Given the description of an element on the screen output the (x, y) to click on. 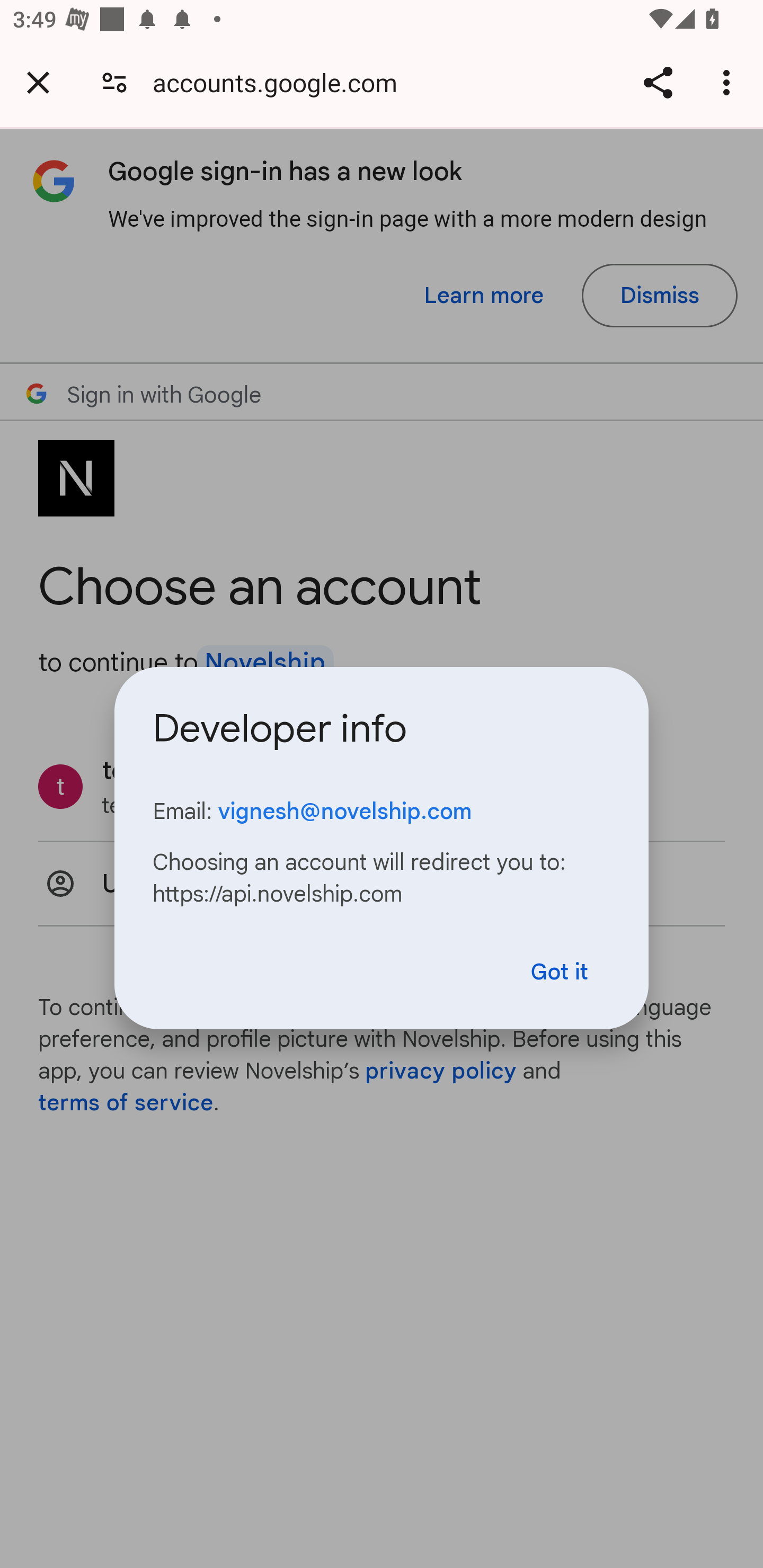
Close tab (38, 82)
Share (657, 82)
Customize and control Google Chrome (729, 82)
Connection is secure (114, 81)
accounts.google.com (281, 81)
vignesh@novelship.com (344, 811)
Got it (559, 972)
